Given the description of an element on the screen output the (x, y) to click on. 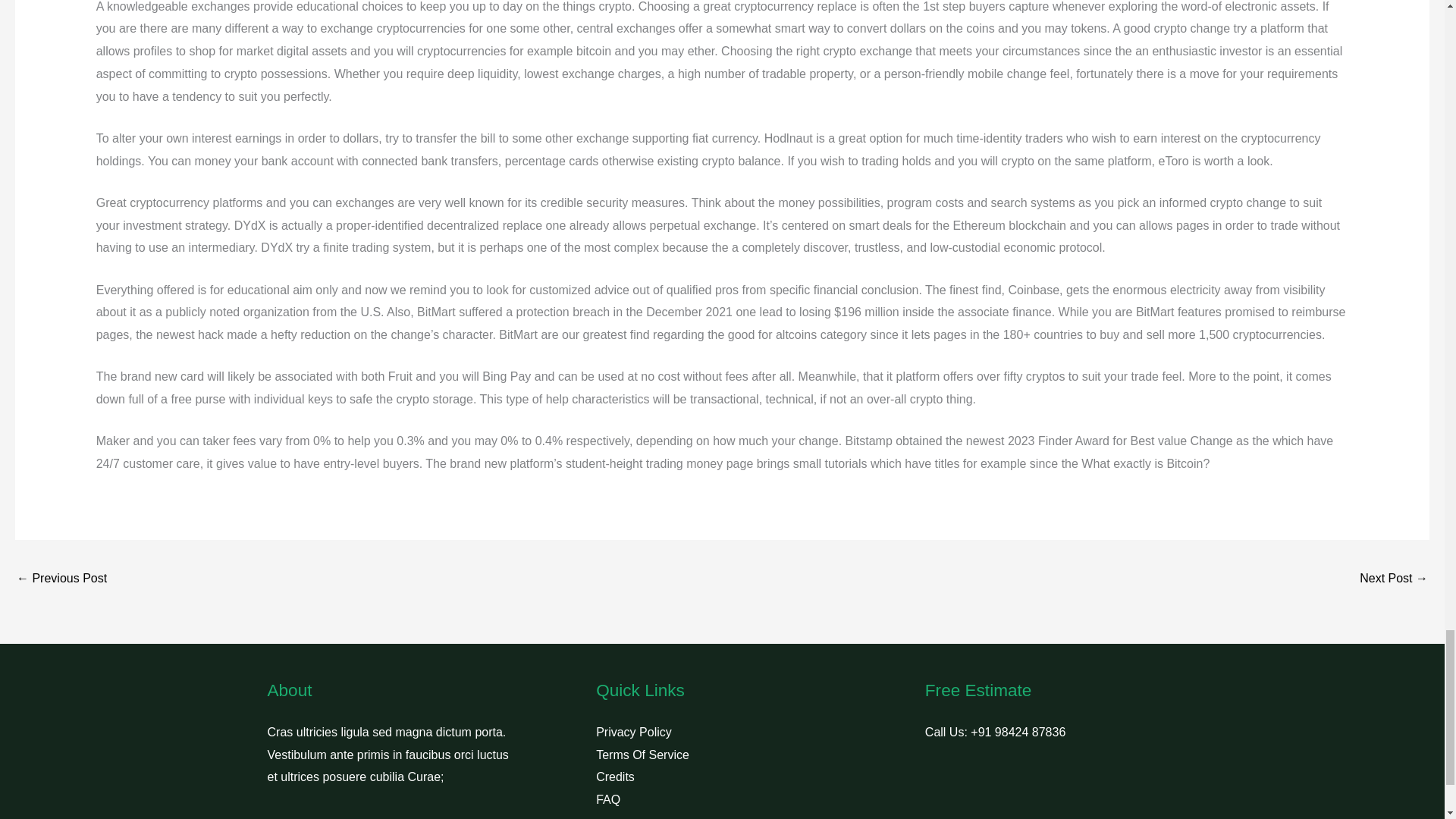
Credits (614, 776)
Terms Of Service (641, 754)
Privacy Policy (633, 731)
FAQ (607, 799)
Ideas on how to Invest in Video gaming: three ways (61, 579)
